Given the description of an element on the screen output the (x, y) to click on. 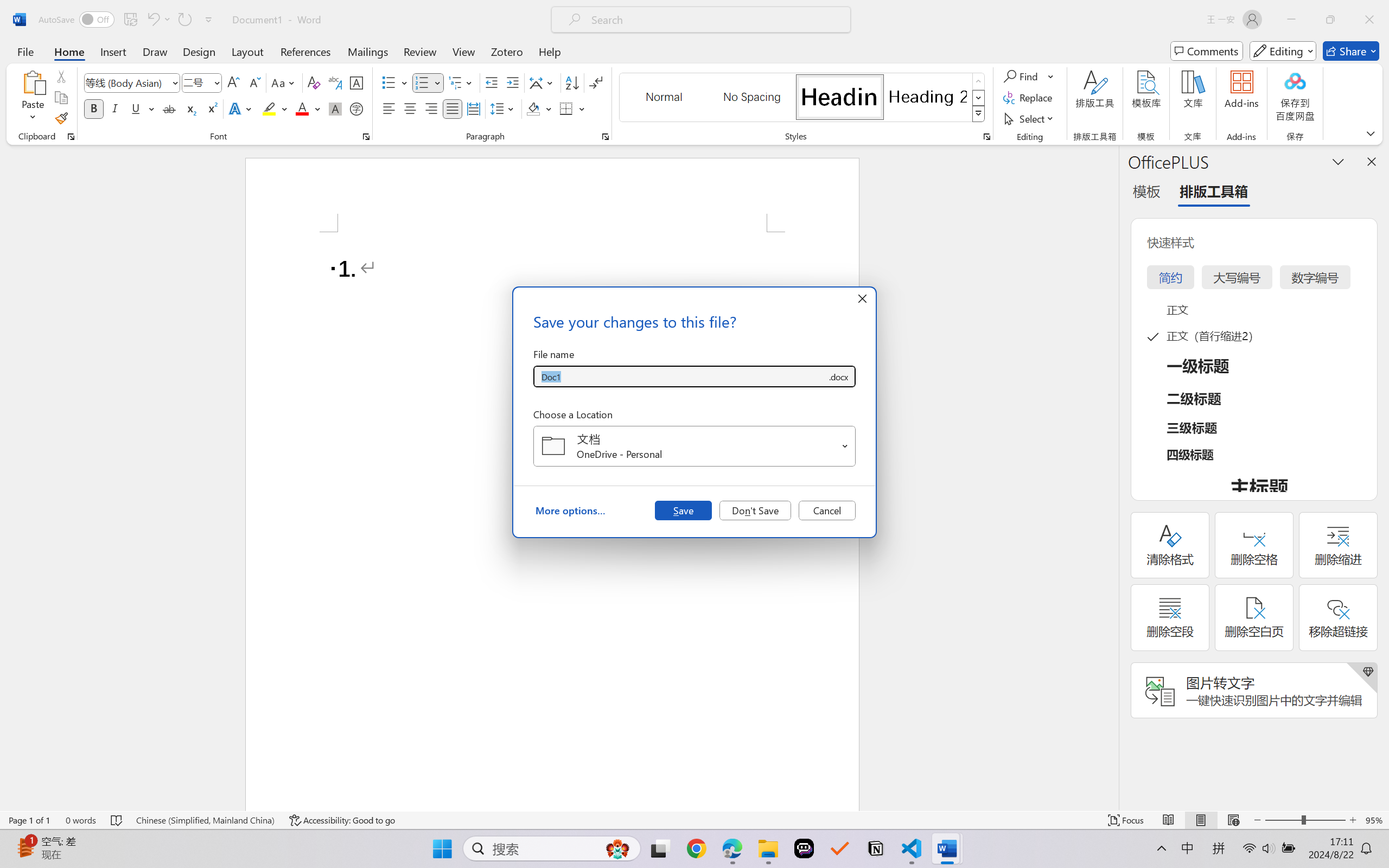
Cancel (826, 509)
